Given the description of an element on the screen output the (x, y) to click on. 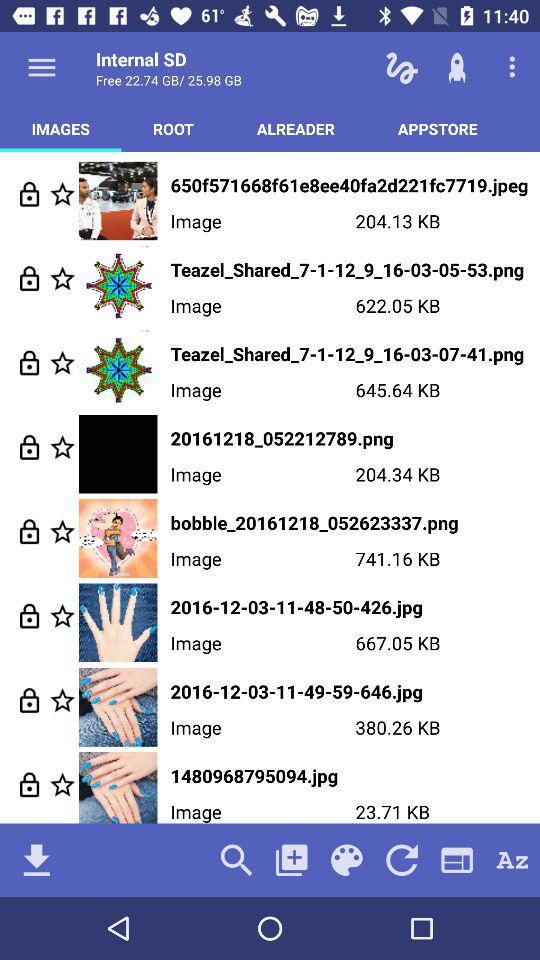
add to favorites (62, 362)
